Given the description of an element on the screen output the (x, y) to click on. 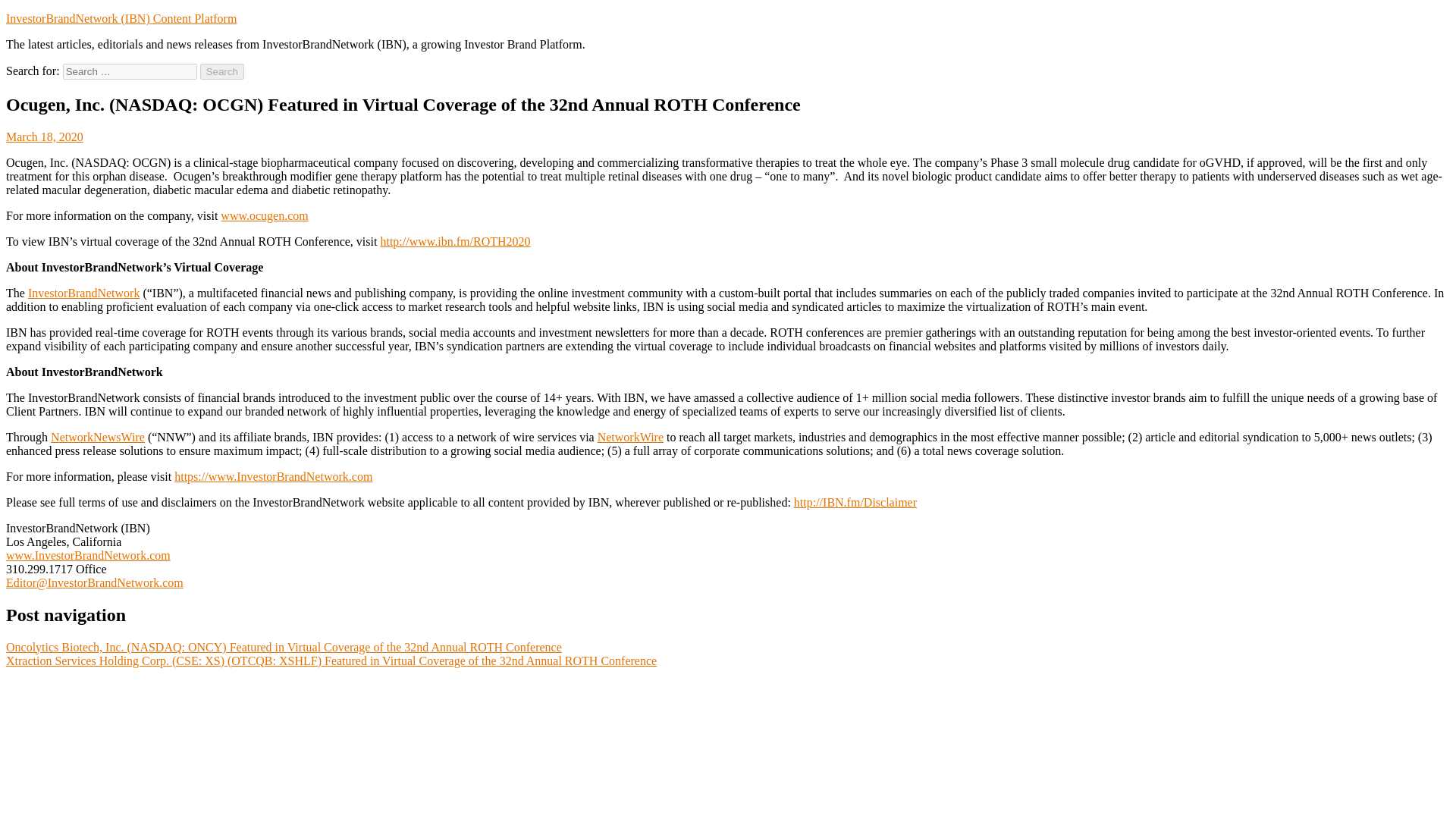
NetworkWire (629, 436)
InvestorBrandNetwork (83, 292)
March 18, 2020 (43, 136)
www.ocugen.com (264, 215)
Search (222, 71)
NetworkNewsWire (97, 436)
Search (222, 71)
www.InvestorBrandNetwork.com (87, 554)
Search (222, 71)
